Given the description of an element on the screen output the (x, y) to click on. 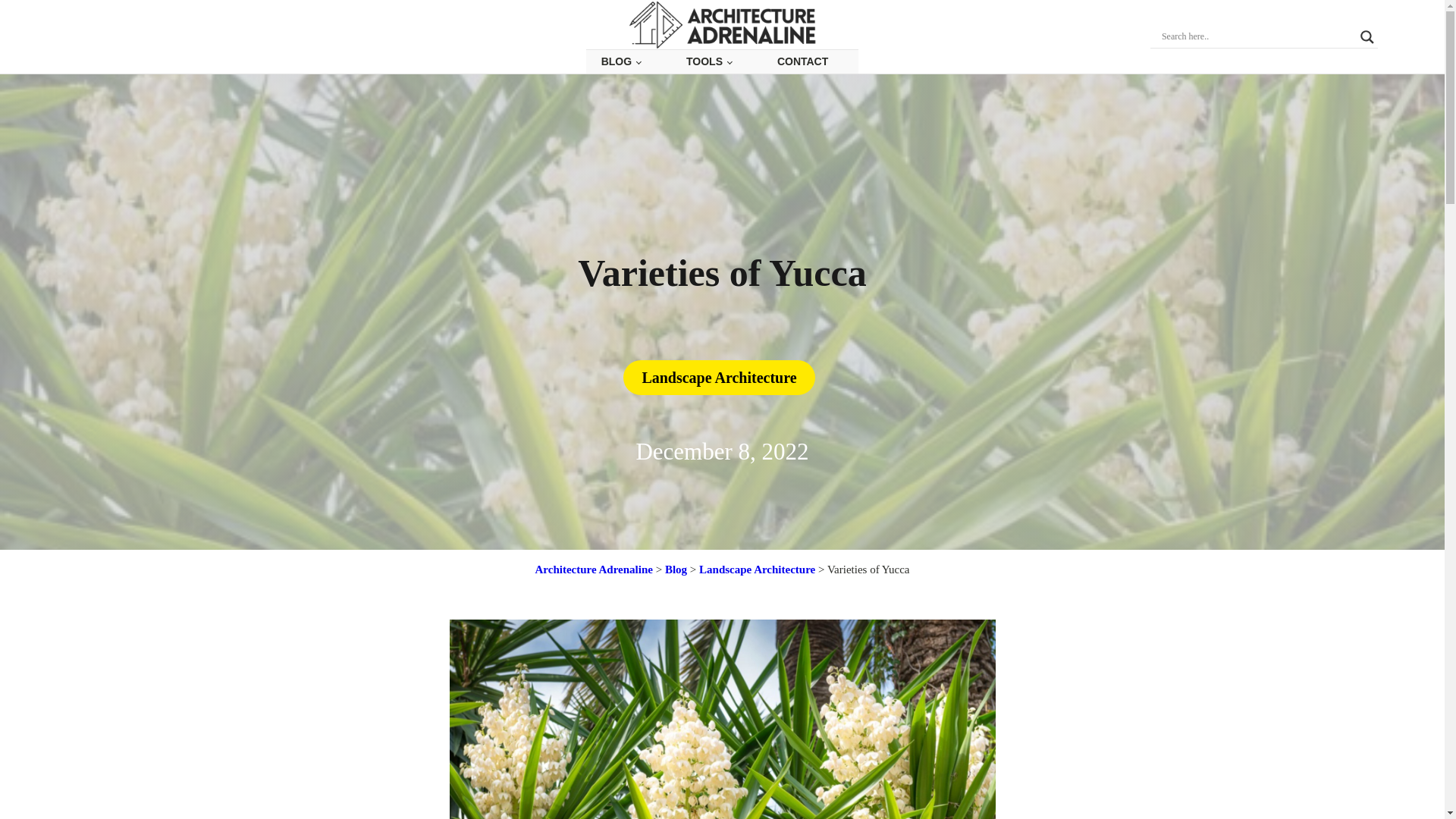
Architecture Adrenaline (593, 568)
Blog (676, 568)
Go to Architecture Adrenaline. (593, 568)
BLOG (621, 61)
CONTACT (802, 61)
Go to Blog. (676, 568)
Go to the Landscape Architecture Category archives. (756, 568)
Landscape Architecture (756, 568)
Landscape Architecture (718, 377)
TOOLS (708, 61)
